Given the description of an element on the screen output the (x, y) to click on. 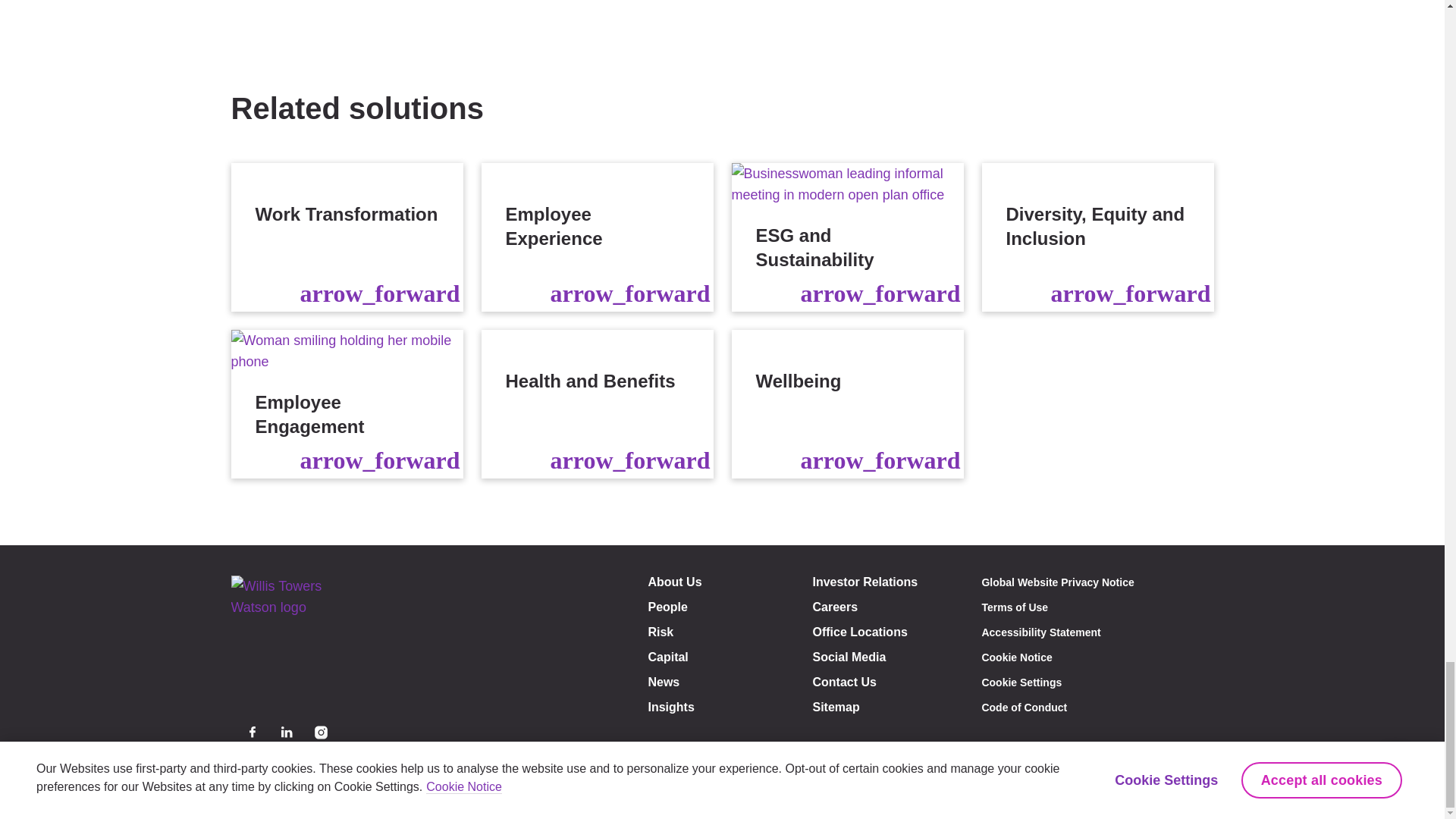
ESG and Sustainability (846, 237)
Diversity, Equity and Inclusion (1096, 237)
Work Transformation (346, 237)
Employee Experience (596, 237)
Instagram (320, 732)
Facebook (252, 732)
Health and Benefits (596, 404)
Linkedin (287, 732)
Wellbeing (846, 404)
Employee Engagement (346, 404)
